Given the description of an element on the screen output the (x, y) to click on. 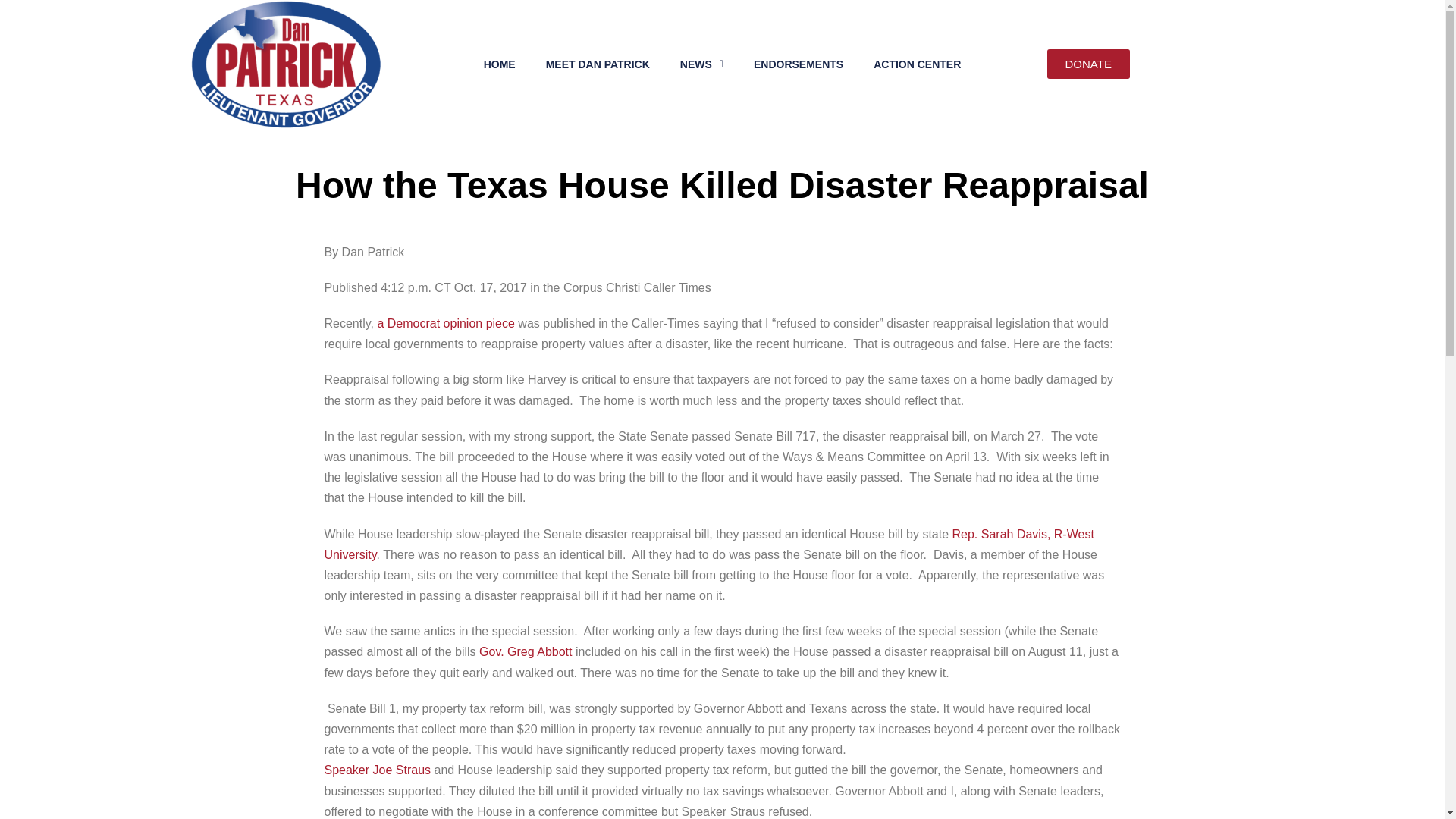
Speaker Joe Straus (377, 769)
HOME (499, 63)
Rep. Sarah Davis, R-West University (709, 544)
MEET DAN PATRICK (598, 63)
ACTION CENTER (917, 63)
ENDORSEMENTS (798, 63)
NEWS (701, 63)
DONATE (1087, 63)
a Democrat opinion piece (445, 323)
Gov. Greg Abbott (525, 651)
